Given the description of an element on the screen output the (x, y) to click on. 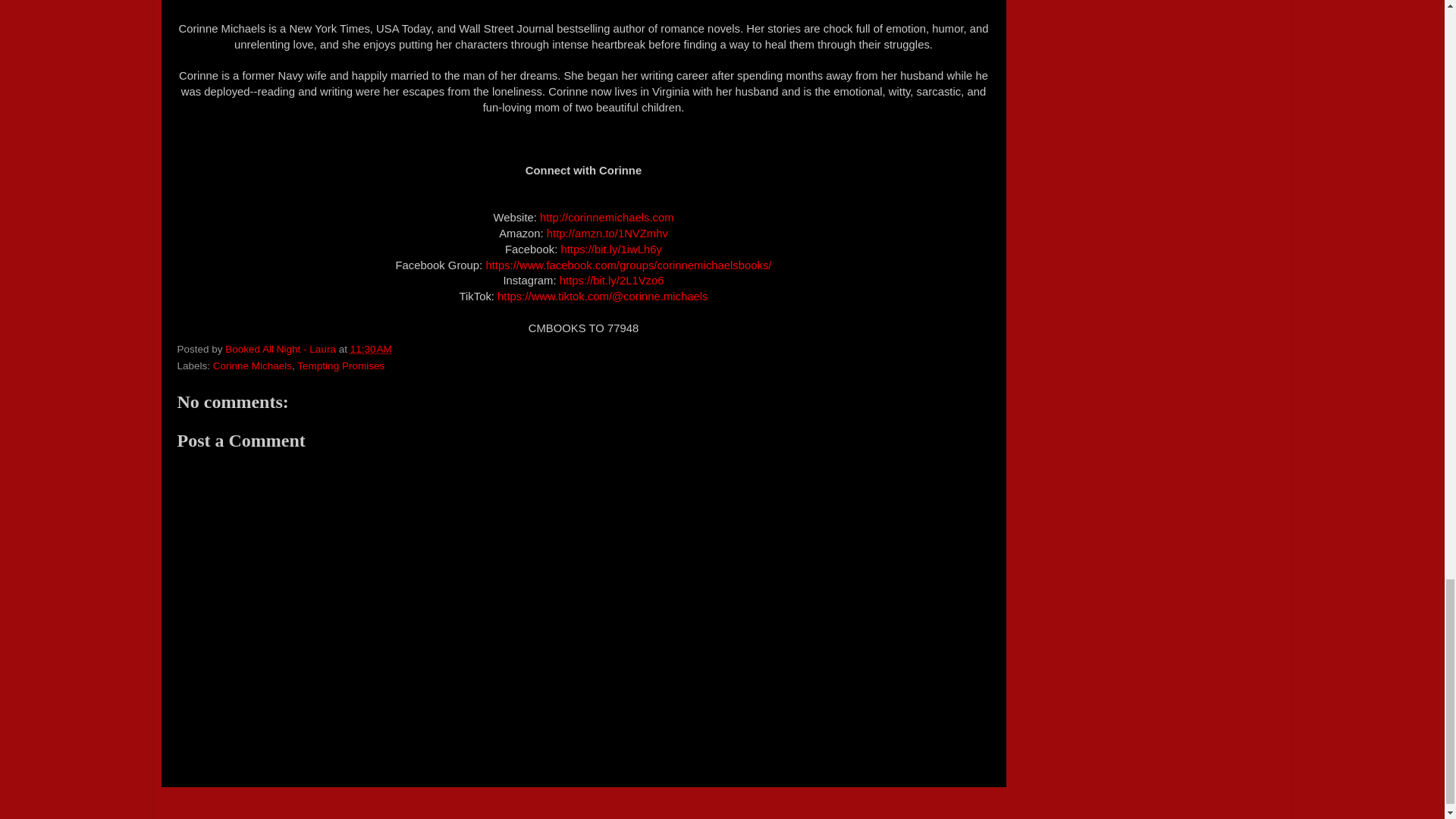
author profile (281, 348)
Corinne Michaels (252, 365)
Tempting Promises (340, 365)
Booked All Night - Laura (281, 348)
permanent link (370, 348)
